Given the description of an element on the screen output the (x, y) to click on. 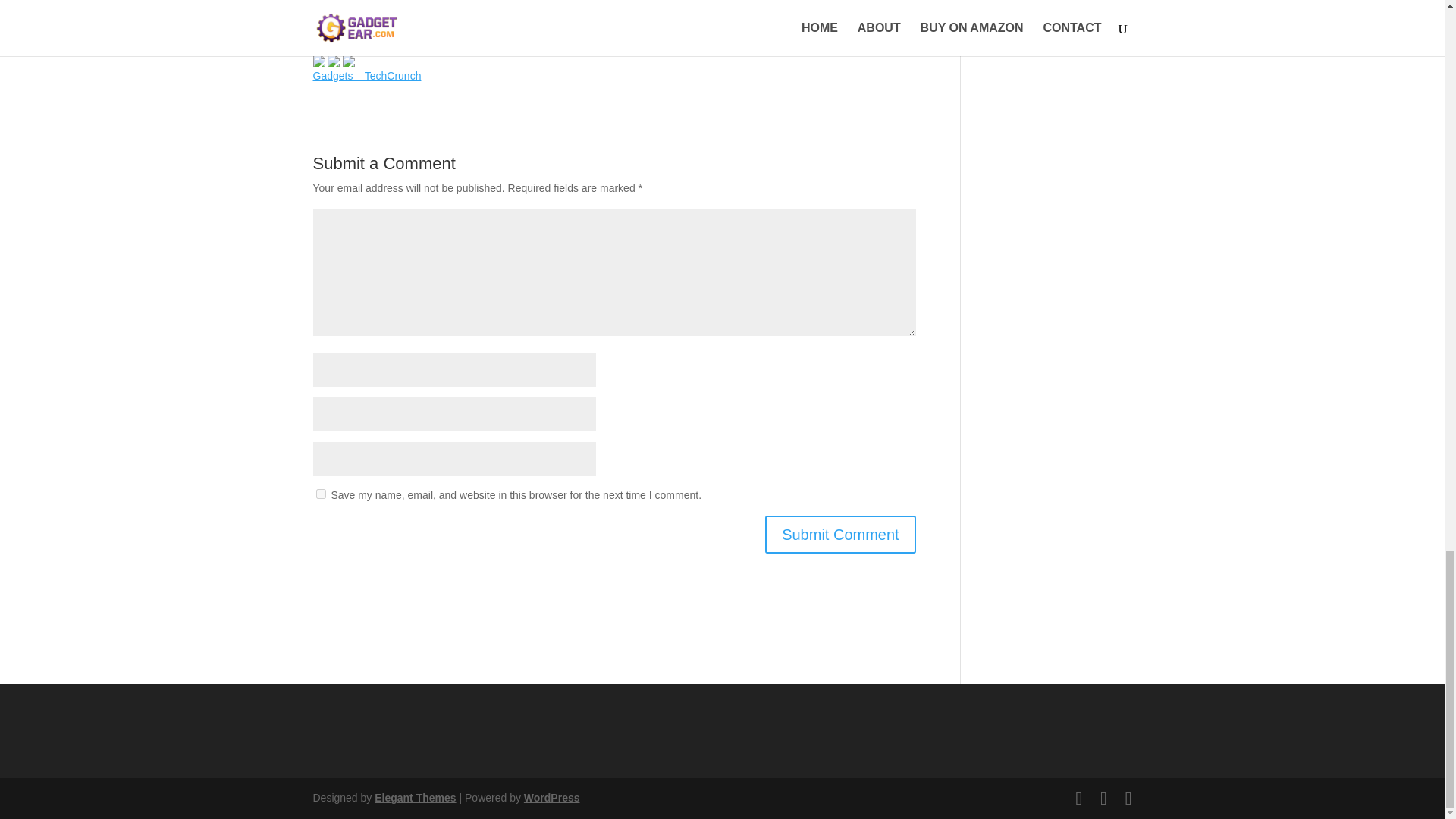
Submit Comment (840, 534)
Premium WordPress Themes (414, 797)
WordPress (551, 797)
yes (319, 493)
Elegant Themes (414, 797)
Submit Comment (840, 534)
